Given the description of an element on the screen output the (x, y) to click on. 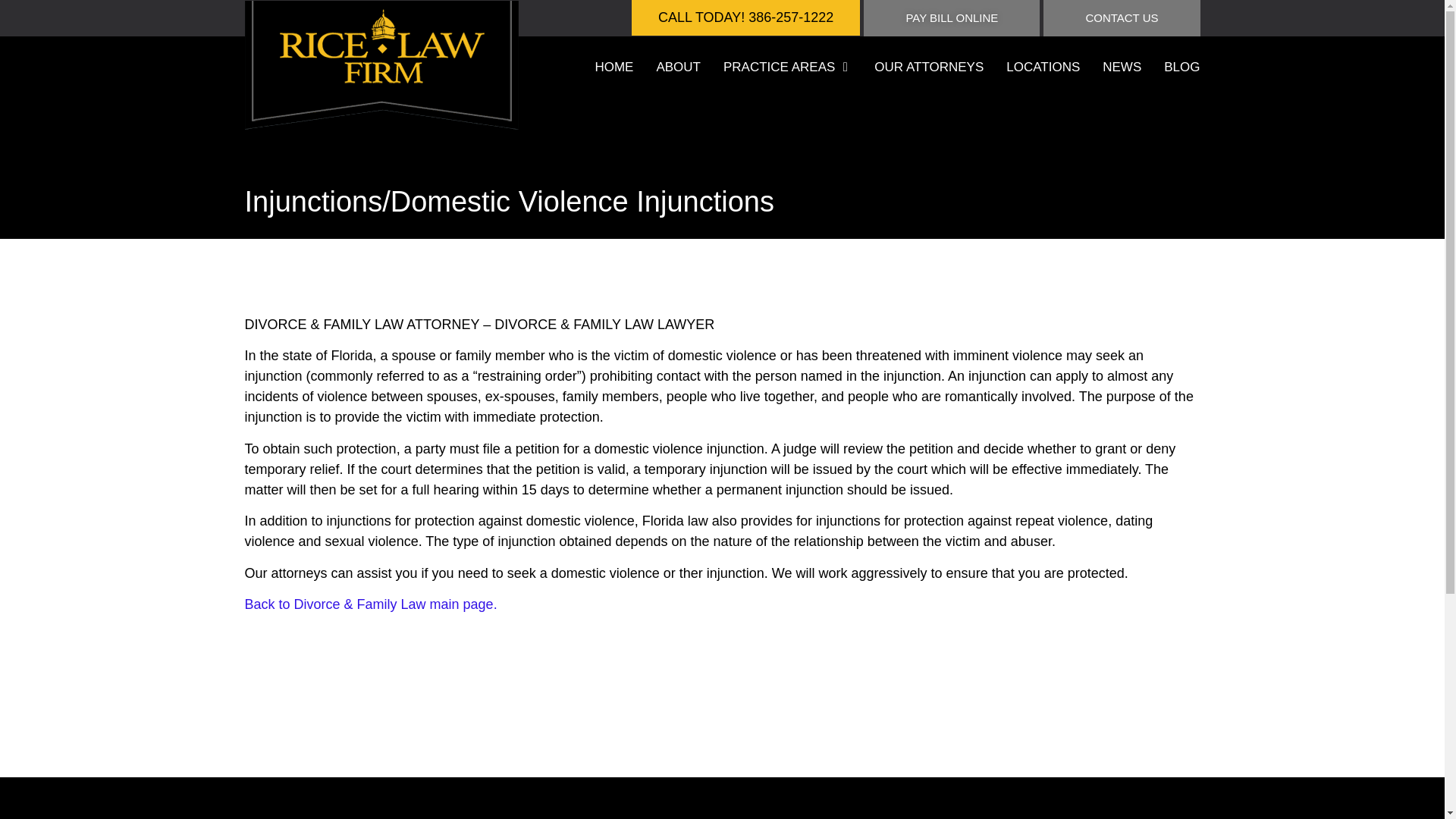
PAY BILL ONLINE (951, 18)
OUR ATTORNEYS (929, 66)
HOME (613, 66)
NEWS (1121, 66)
CALL TODAY! 386-257-1222 (745, 18)
ABOUT (678, 66)
LOCATIONS (1043, 66)
PRACTICE AREAS (778, 66)
CONTACT US (1121, 18)
BLOG (1181, 66)
